Given the description of an element on the screen output the (x, y) to click on. 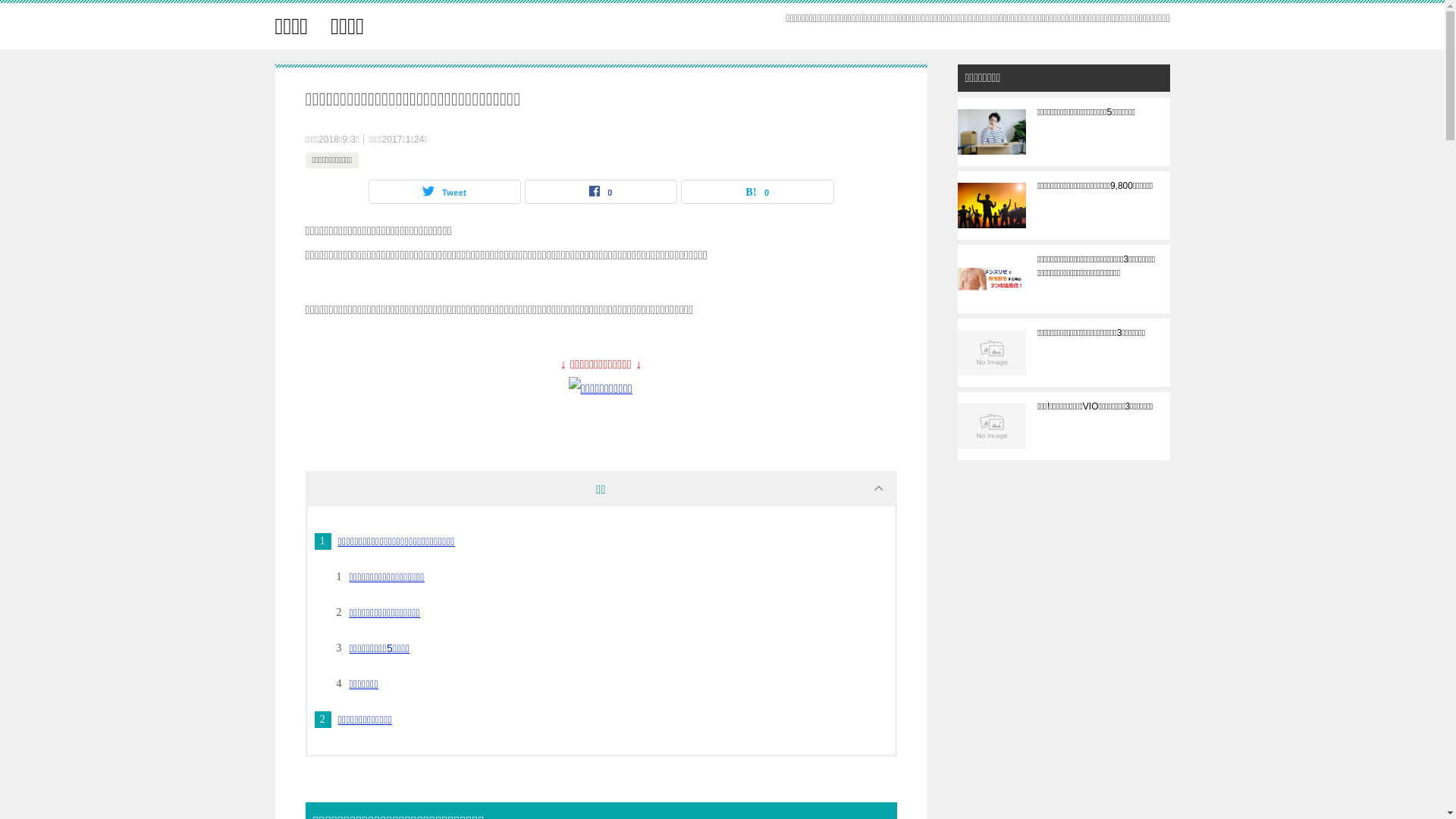
0 Element type: text (756, 191)
0 Element type: text (600, 191)
Tweet Element type: text (443, 191)
